Given the description of an element on the screen output the (x, y) to click on. 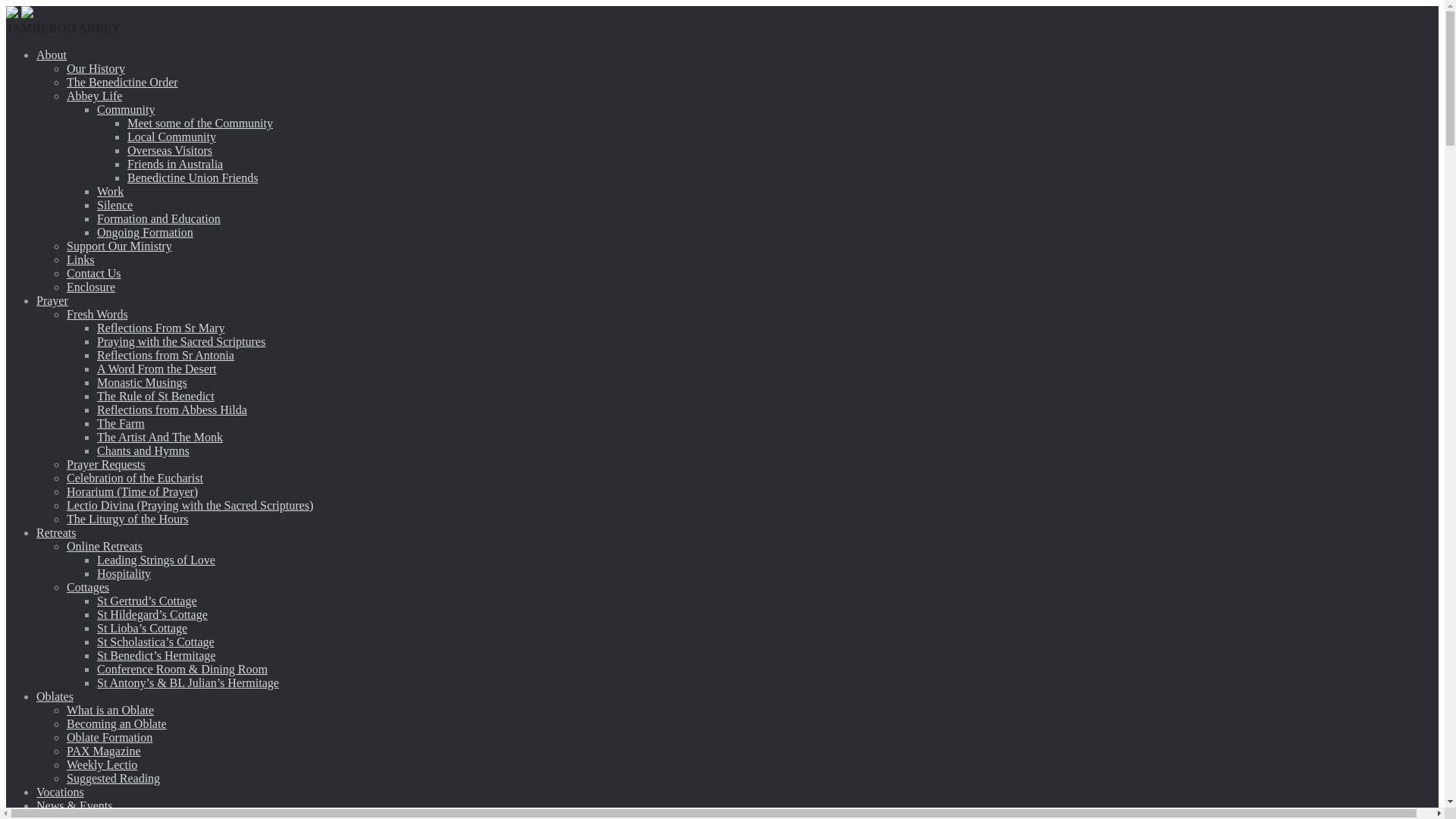
Benedictine Union Friends Element type: text (192, 177)
Fresh Words Element type: text (97, 313)
The Farm Element type: text (120, 423)
Contact Us Element type: text (93, 272)
Reflections From Sr Mary Element type: text (160, 327)
News & Events Element type: text (74, 805)
Formation and Education Element type: text (158, 218)
The Artist And The Monk Element type: text (159, 436)
A Word From the Desert Element type: text (156, 368)
Prayer Element type: text (52, 300)
The Benedictine Order Element type: text (122, 81)
Reflections from Abbess Hilda Element type: text (172, 409)
Silence Element type: text (114, 204)
Vocations Element type: text (60, 791)
Weekly Lectio Element type: text (101, 764)
Chants and Hymns Element type: text (143, 450)
Online Retreats Element type: text (104, 545)
Ongoing Formation Element type: text (145, 231)
Work Element type: text (110, 191)
Our History Element type: text (95, 68)
Monastic Musings Element type: text (142, 382)
Prayer Requests Element type: text (105, 464)
Support Our Ministry Element type: text (119, 245)
Becoming an Oblate Element type: text (116, 723)
Cottages Element type: text (87, 586)
Hospitality Element type: text (123, 573)
Suggested Reading Element type: text (113, 777)
Conference Room & Dining Room Element type: text (182, 668)
Oblates Element type: text (54, 696)
Celebration of the Eucharist Element type: text (134, 477)
Praying with the Sacred Scriptures Element type: text (181, 341)
Retreats Element type: text (55, 532)
Enclosure Element type: text (90, 286)
The Rule of St Benedict Element type: text (155, 395)
Lectio Divina (Praying with the Sacred Scriptures) Element type: text (189, 504)
Meet some of the Community Element type: text (200, 122)
Links Element type: text (80, 259)
PAX Magazine Element type: text (103, 750)
What is an Oblate Element type: text (109, 709)
Abbey Life Element type: text (94, 95)
About Element type: text (51, 54)
Leading Strings of Love Element type: text (156, 559)
Local Community Element type: text (171, 136)
Friends in Australia Element type: text (174, 163)
Reflections from Sr Antonia Element type: text (165, 354)
Community Element type: text (125, 109)
Overseas Visitors Element type: text (169, 150)
Oblate Formation Element type: text (109, 737)
Horarium (Time of Prayer) Element type: text (131, 491)
The Liturgy of the Hours Element type: text (127, 518)
